Given the description of an element on the screen output the (x, y) to click on. 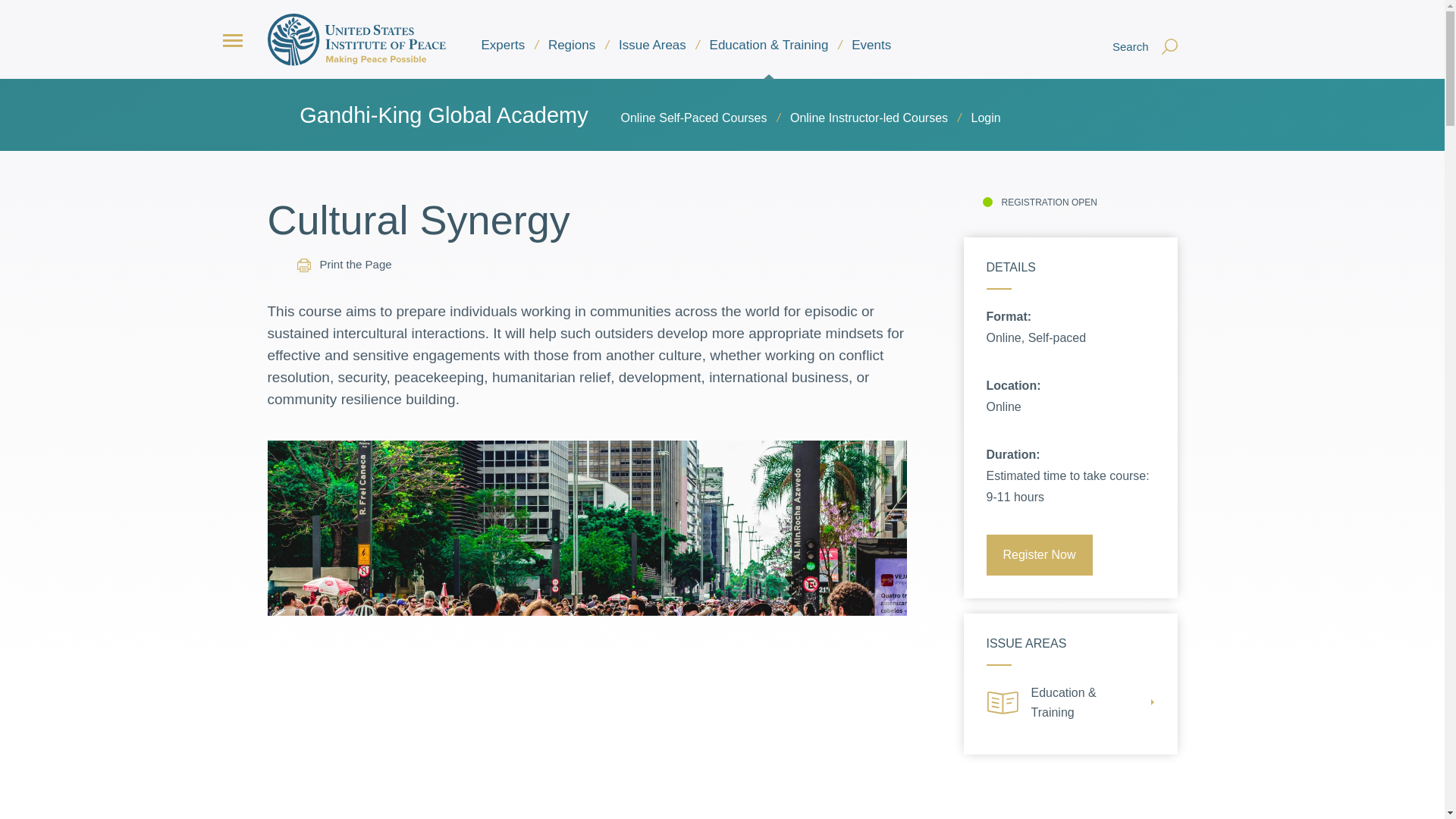
Regions (571, 45)
Online Self-Paced Courses (694, 117)
Search (1141, 38)
Issue Areas (652, 45)
Gandhi-King Global Academy (443, 115)
Events (871, 45)
Login (985, 117)
United States Institute of Peace (355, 39)
Experts (502, 45)
